Given the description of an element on the screen output the (x, y) to click on. 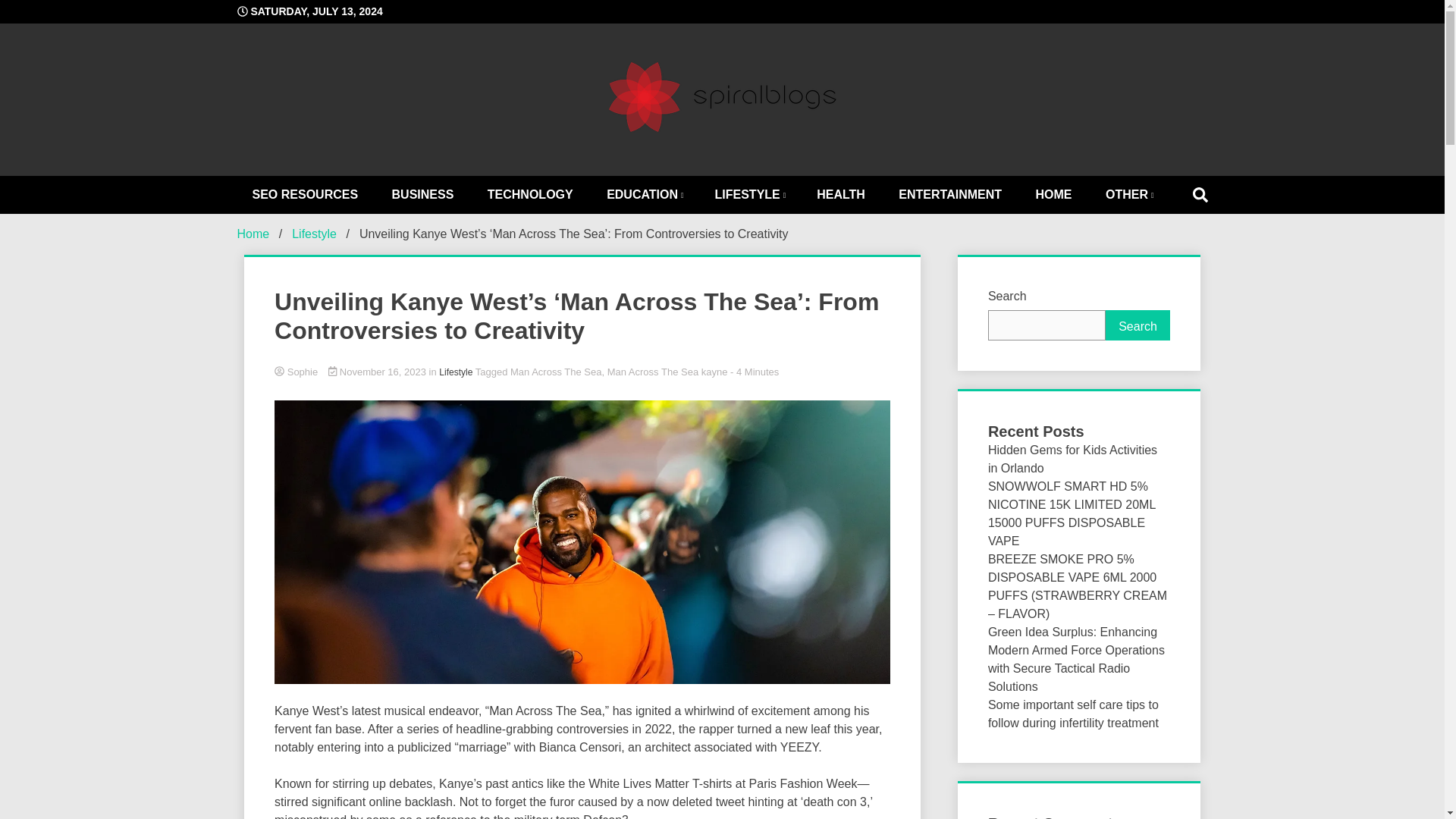
Man Across The Sea kayne (667, 371)
Sophie (582, 372)
Estimated Reading Time of Article (754, 371)
SEO RESOURCES (303, 194)
Home (252, 233)
November 16, 2023 (379, 371)
Man Across The Sea (556, 371)
LIFESTYLE (748, 194)
ENTERTAINMENT (949, 194)
BUSINESS (422, 194)
Lifestyle (455, 372)
Spiral Blog (817, 194)
TECHNOLOGY (529, 194)
EDUCATION (643, 194)
OTHER (1128, 194)
